Given the description of an element on the screen output the (x, y) to click on. 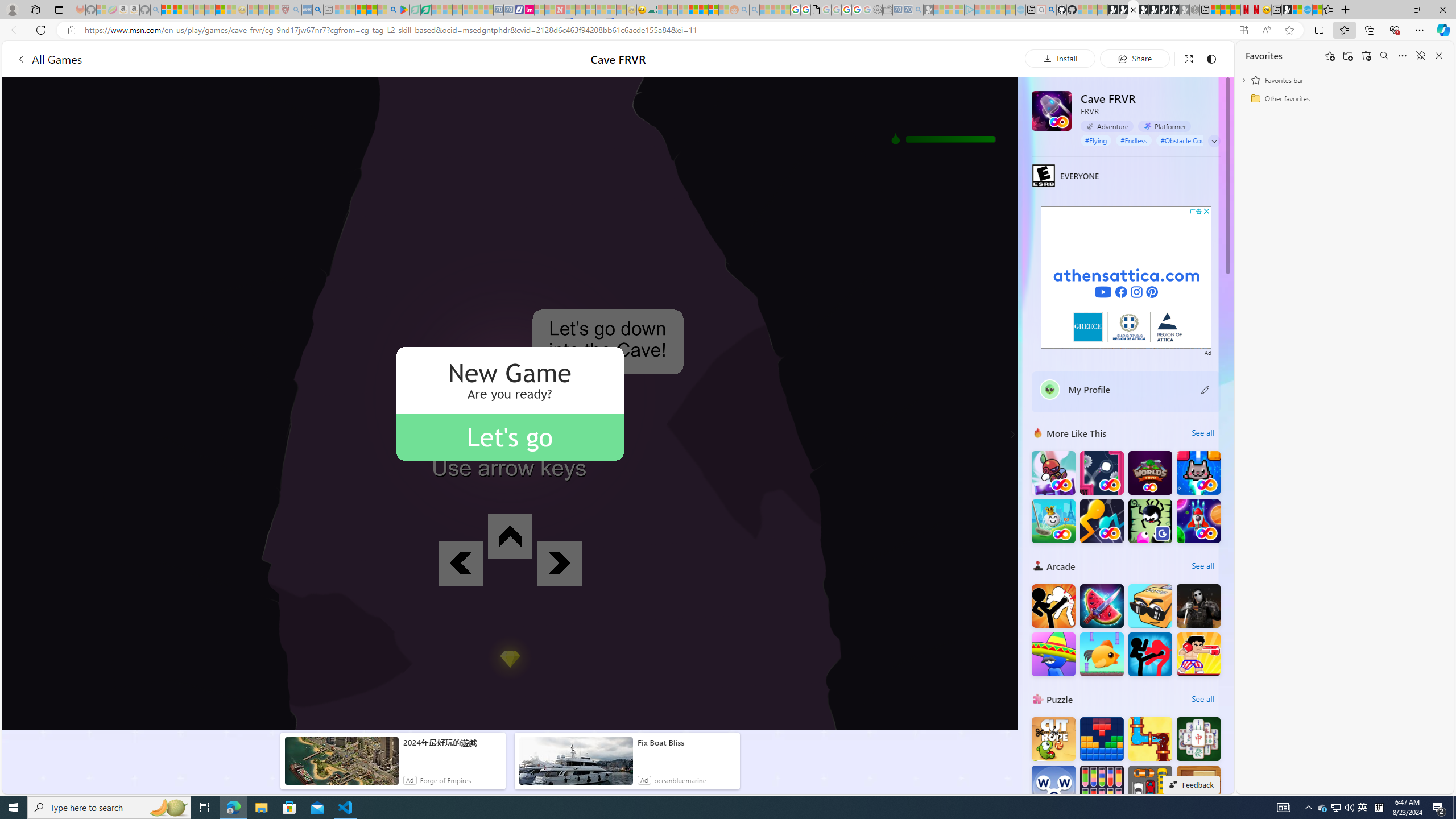
Adventure (1107, 126)
Stickman fighter : Epic battle (1149, 653)
Add folder (1347, 55)
